Given the description of an element on the screen output the (x, y) to click on. 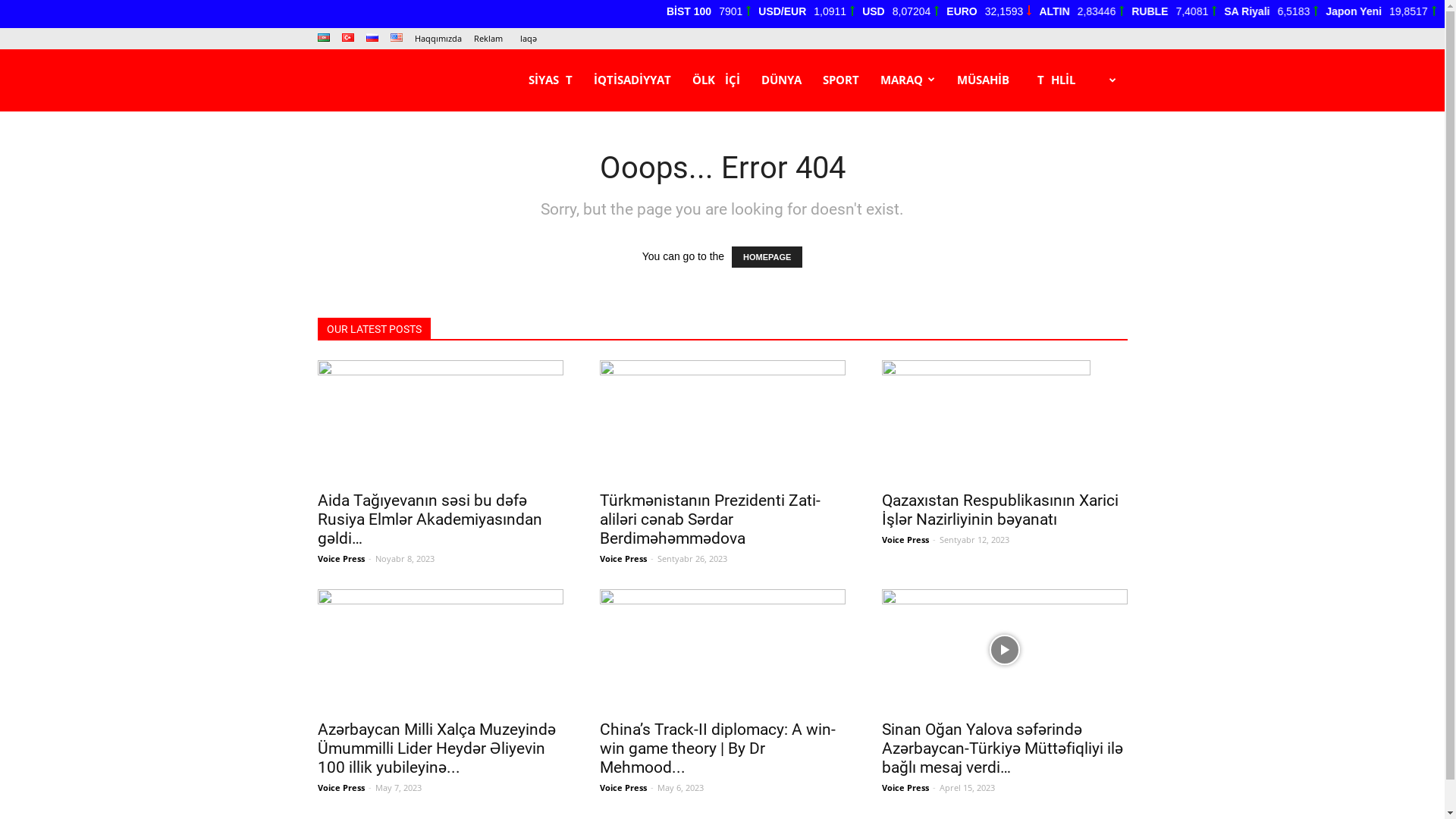
Voice Press Element type: text (904, 787)
Voice Press Element type: text (622, 787)
SPORT Element type: text (840, 79)
HOMEPAGE Element type: text (766, 256)
Voice Press Element type: text (340, 558)
Voice Press Element type: text (904, 539)
Voice Press Element type: text (622, 558)
Voice Press Element type: text (340, 787)
MARAQ Element type: text (907, 79)
Reklam Element type: text (487, 37)
